Given the description of an element on the screen output the (x, y) to click on. 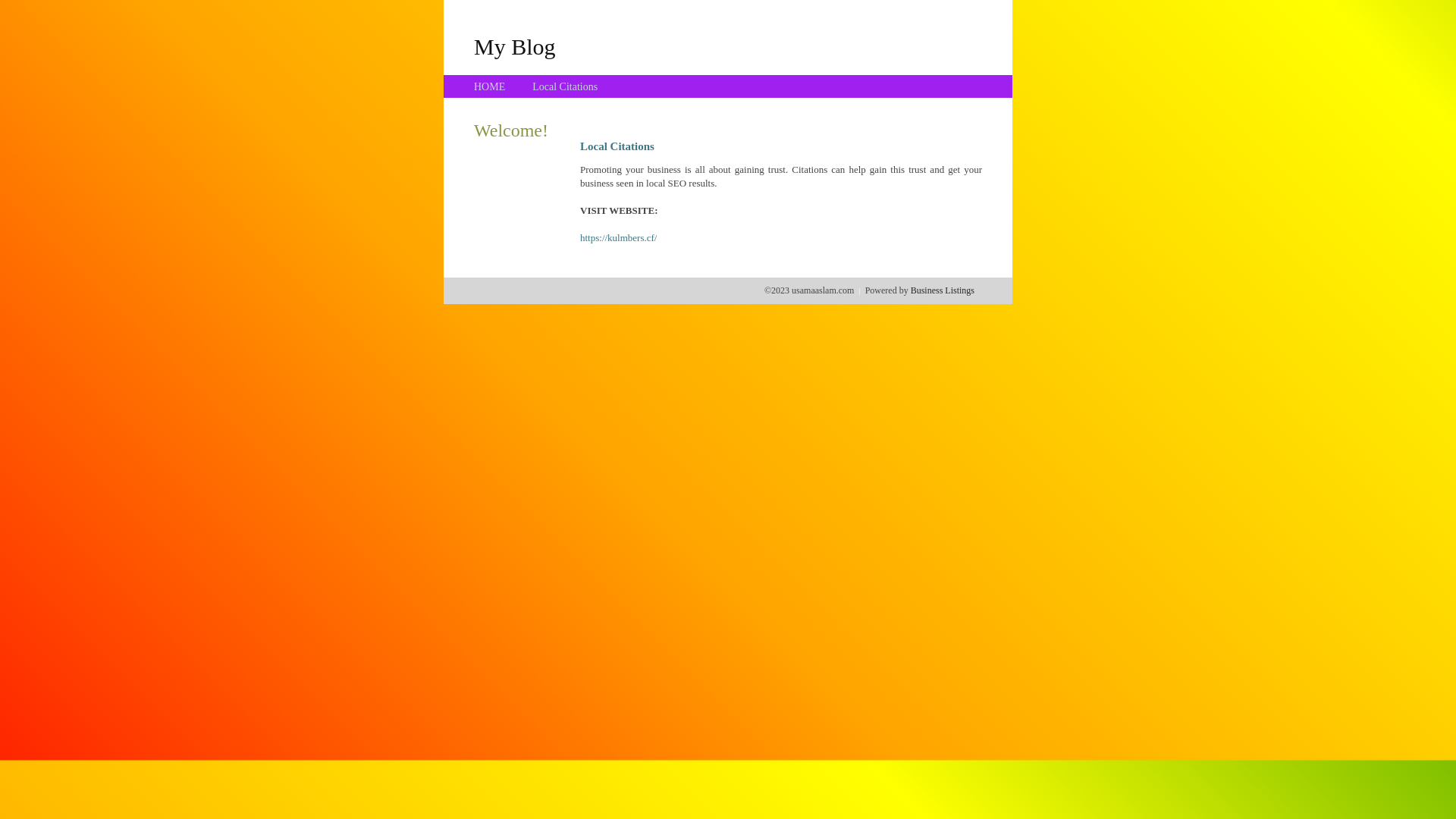
https://kulmbers.cf/ Element type: text (618, 237)
HOME Element type: text (489, 86)
My Blog Element type: text (514, 46)
Business Listings Element type: text (942, 290)
Local Citations Element type: text (564, 86)
